Given the description of an element on the screen output the (x, y) to click on. 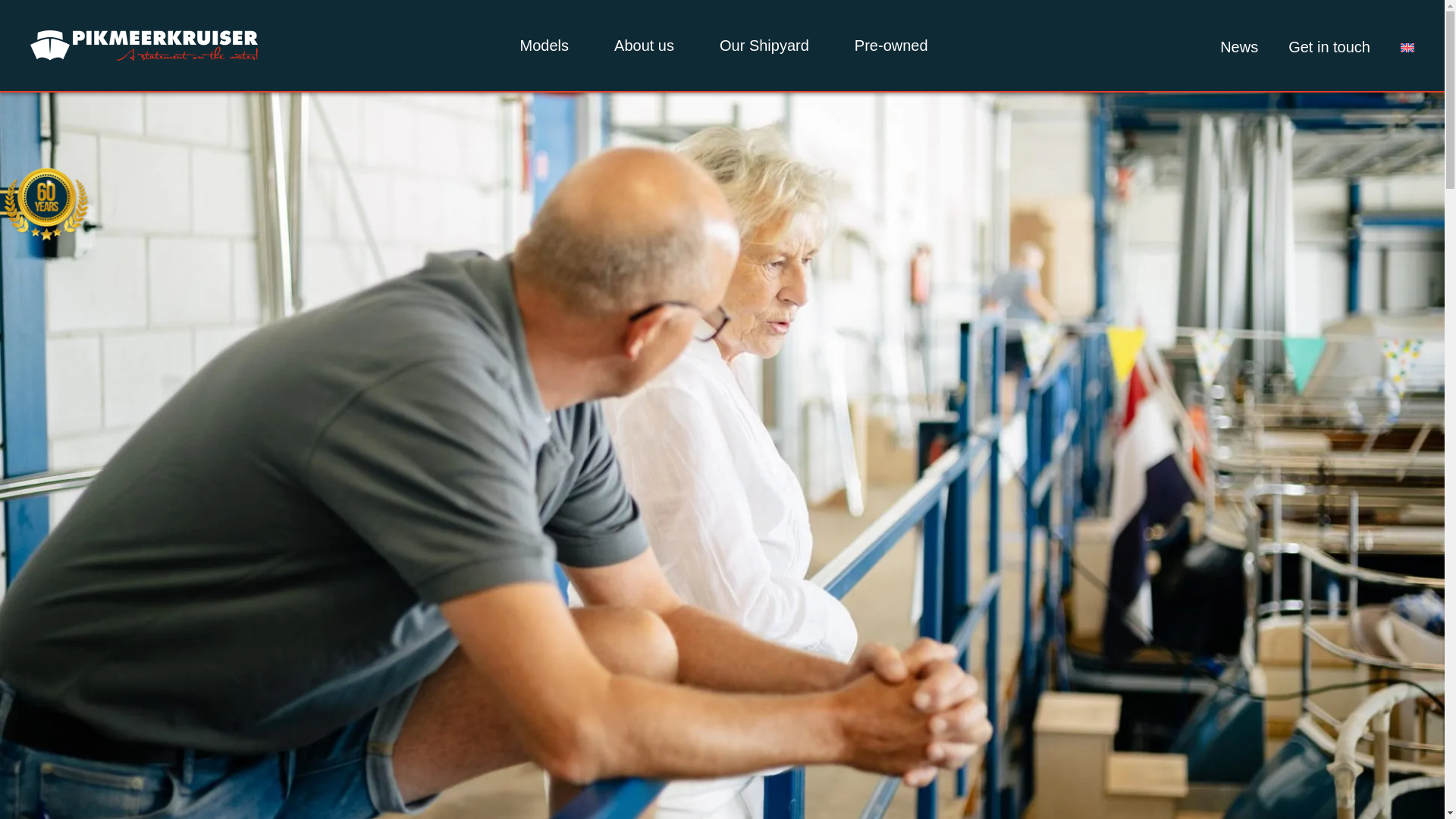
Our Shipyard (764, 60)
About us (644, 60)
Pre-owned (891, 60)
News (1238, 46)
Get in touch (1329, 46)
